Given the description of an element on the screen output the (x, y) to click on. 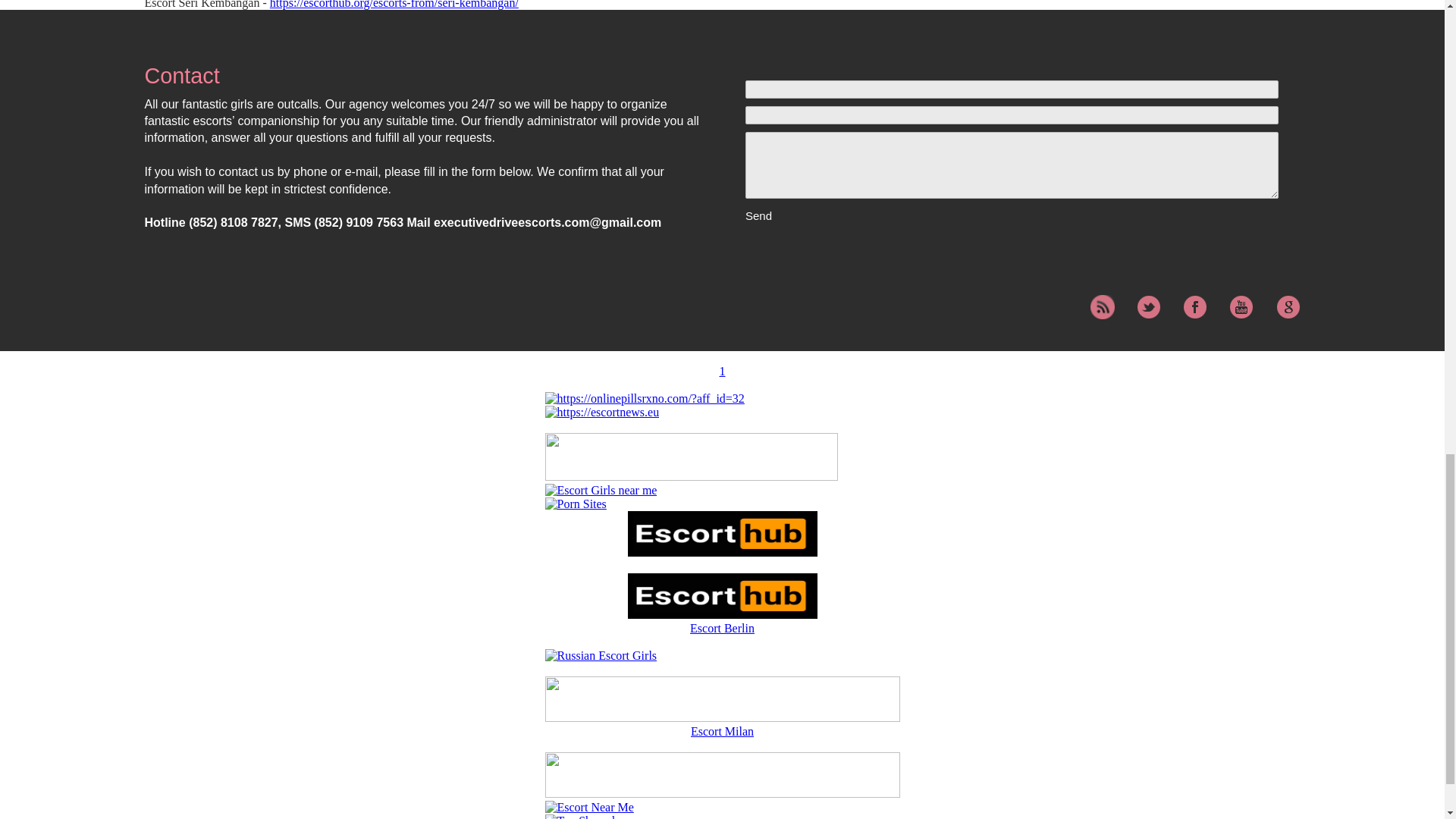
Escort Near Me (588, 807)
Send (800, 215)
Escort Milan (721, 731)
Porn Sites List (574, 503)
Email (1011, 115)
Russian escort (600, 655)
Escort Milan (721, 717)
Escort Berlin (721, 628)
Send (800, 215)
Escort Berlin (721, 597)
1 (721, 371)
Message (1011, 165)
Topescort (721, 793)
Name (1011, 89)
Escorts near me (600, 490)
